Given the description of an element on the screen output the (x, y) to click on. 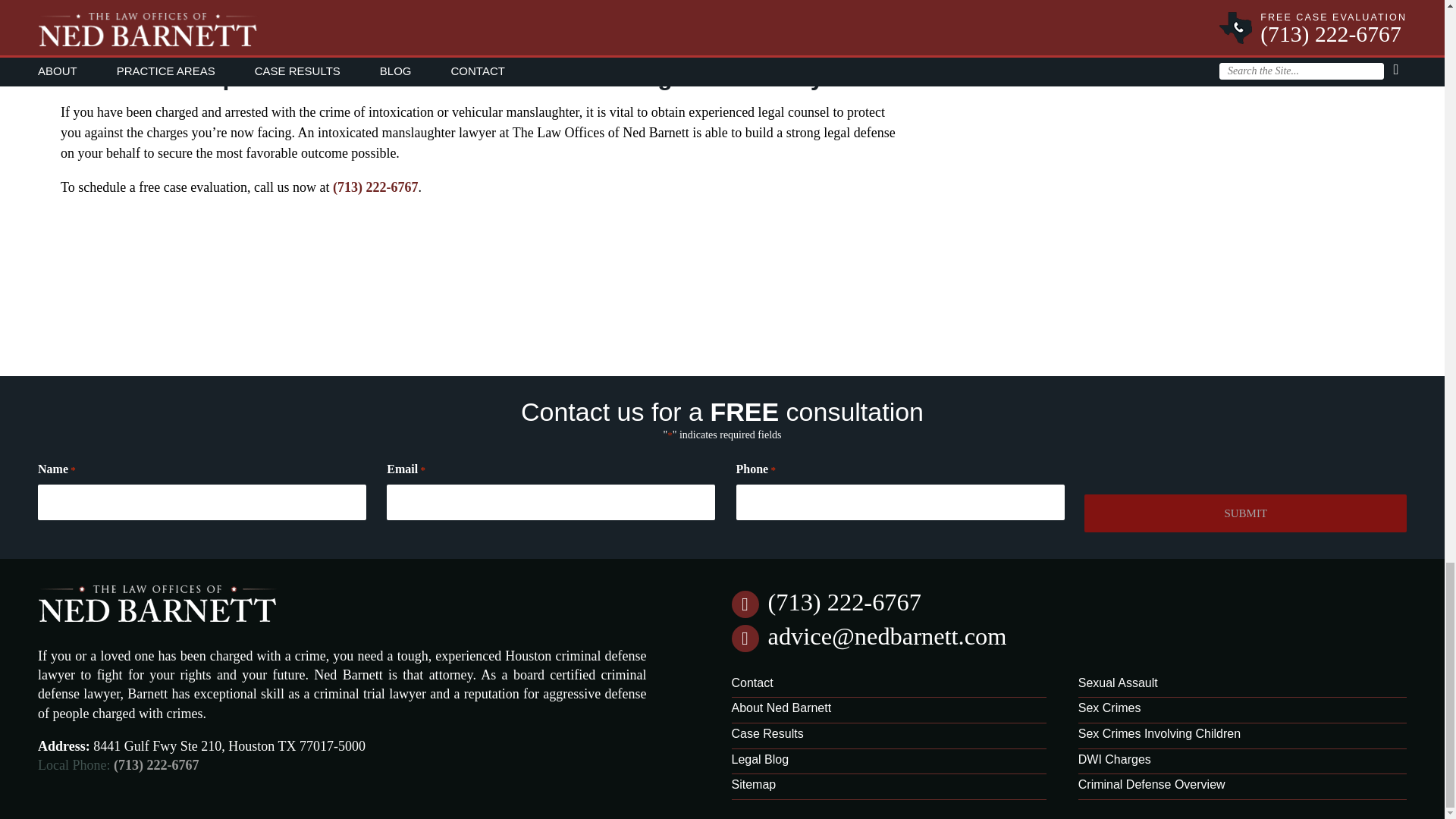
Law Offices of Ned Barnett (157, 624)
Email us today (886, 636)
Call The Law Offices of Ned Barnett Today (375, 186)
Call The Law Offices of Ned Barnett Today (843, 601)
Submit (1245, 513)
Call The Law Offices of Ned Barnett Today (155, 765)
